Given the description of an element on the screen output the (x, y) to click on. 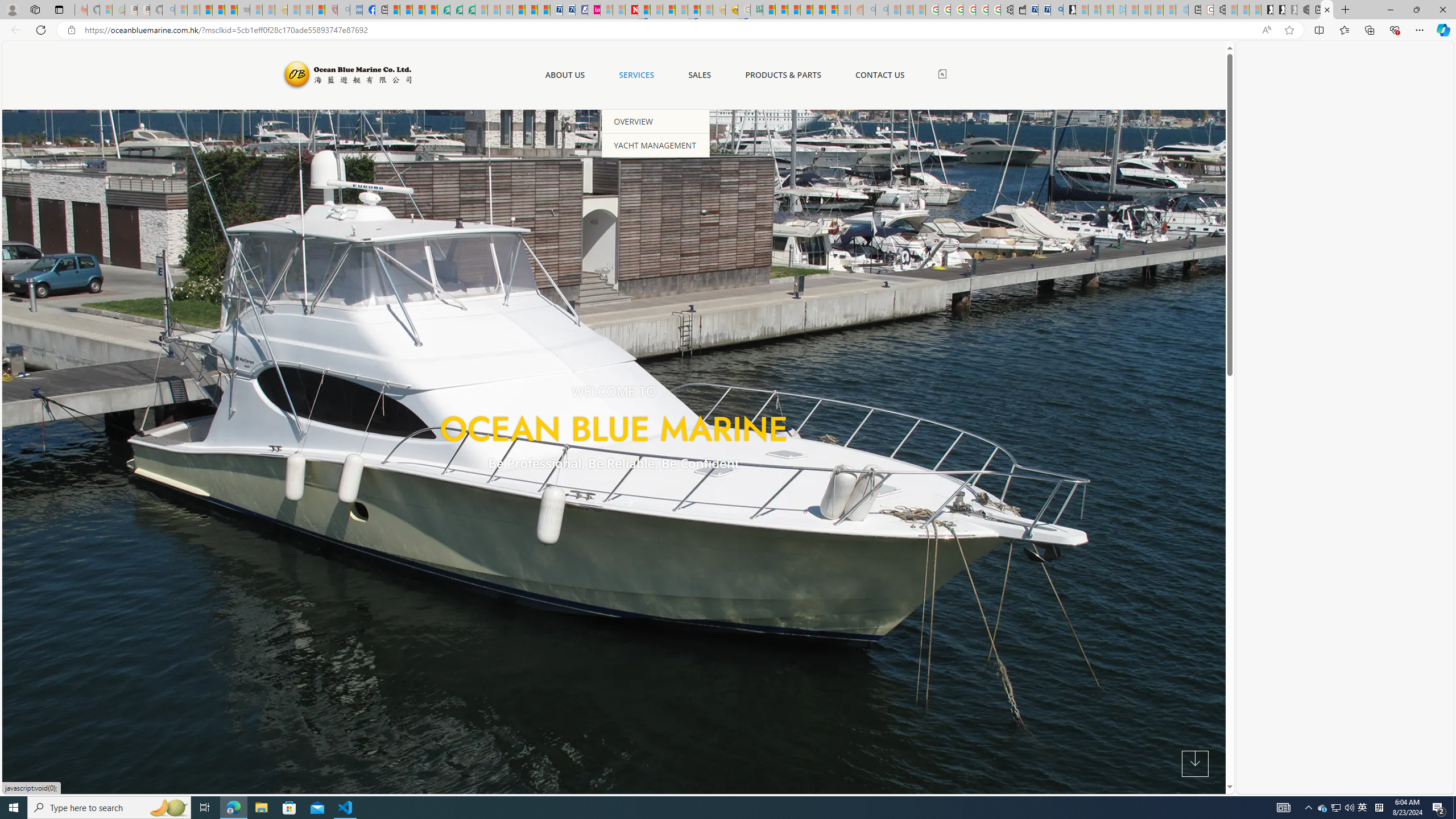
Next Slide (630, 501)
OVERVIEW (656, 120)
CONTACT US (879, 74)
